Given the description of an element on the screen output the (x, y) to click on. 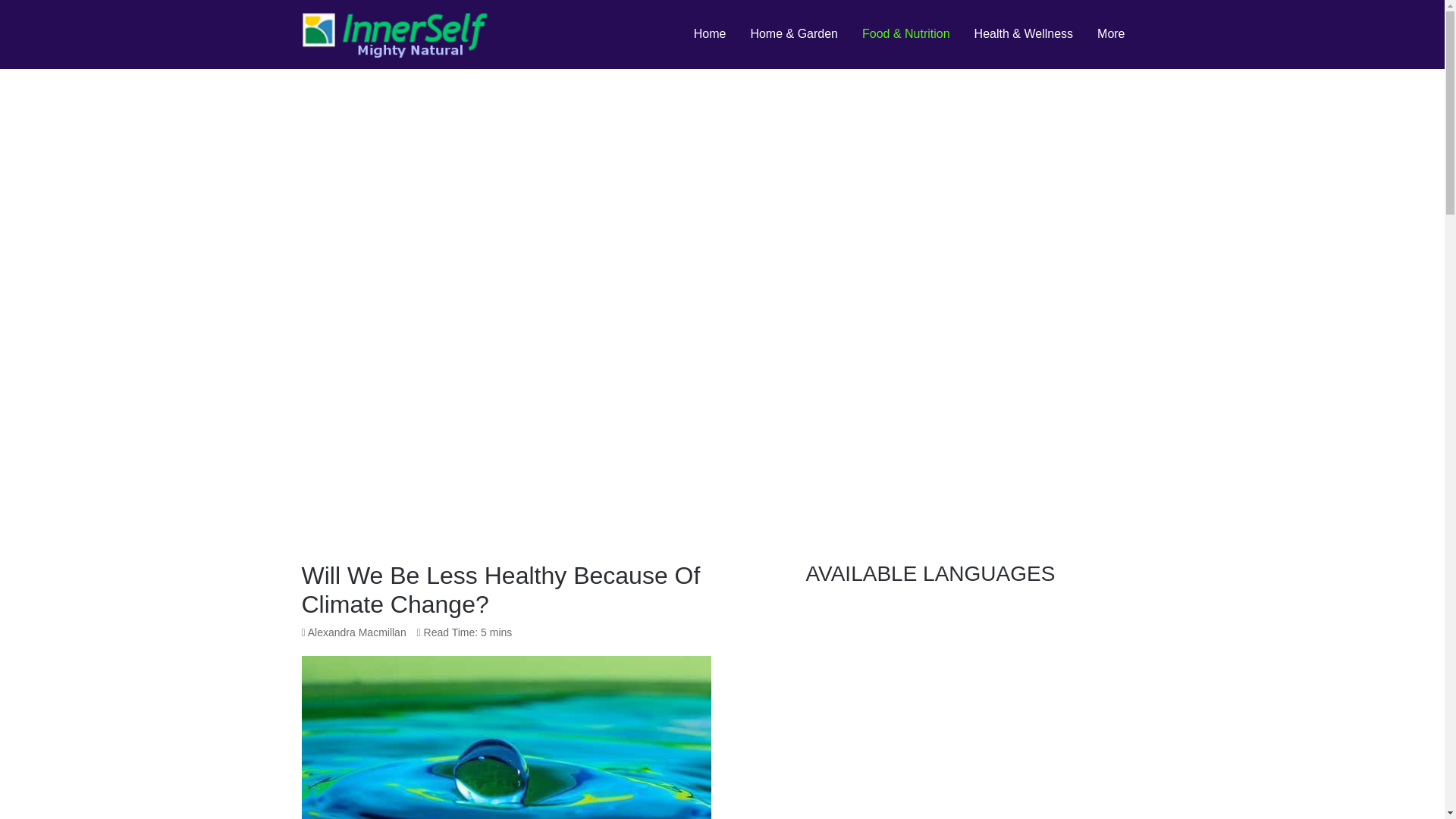
Home (709, 33)
Home (709, 33)
More (1110, 33)
